Given the description of an element on the screen output the (x, y) to click on. 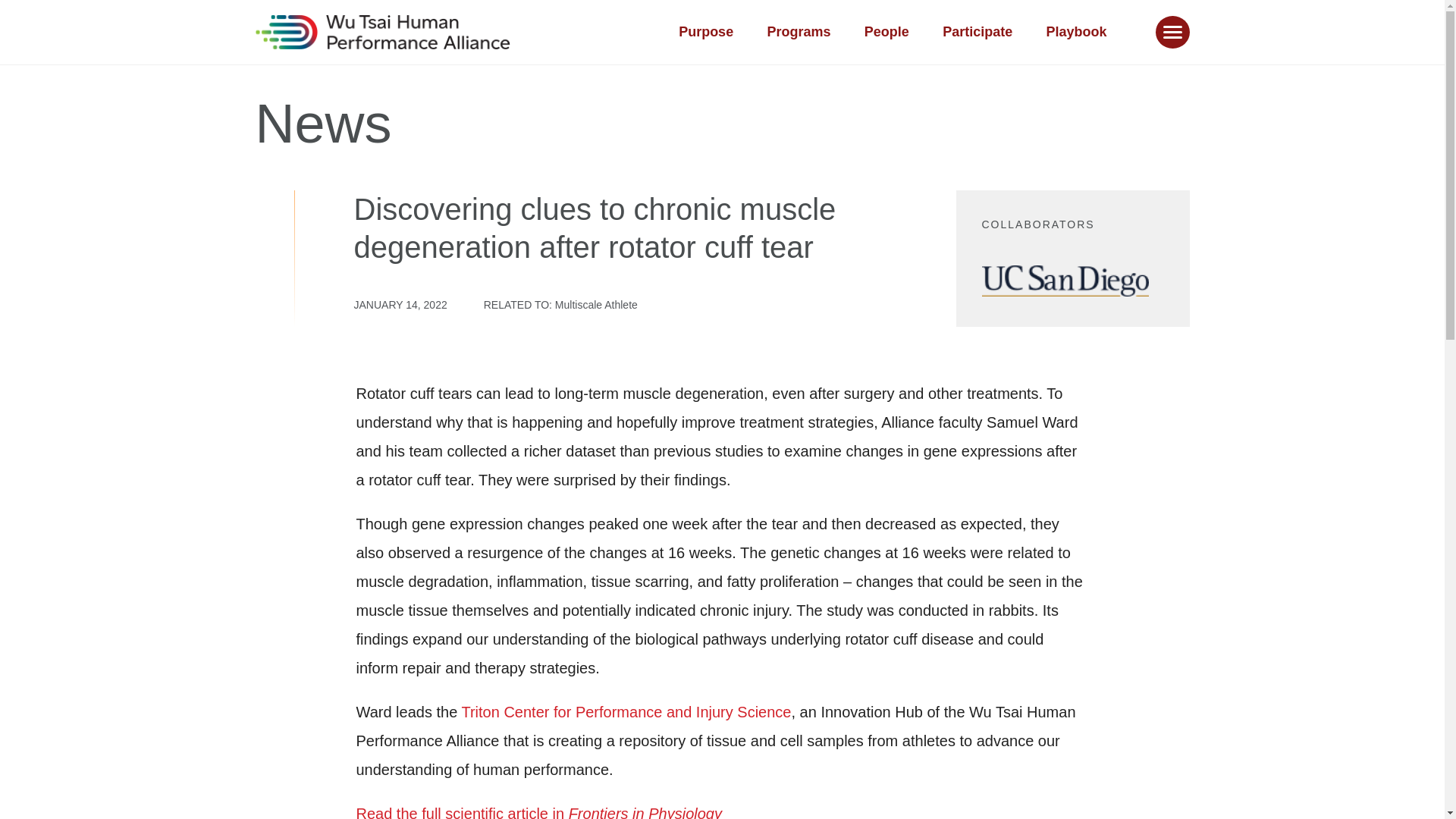
Purpose (705, 31)
People (886, 31)
Playbook (1075, 31)
Participate (976, 31)
Triton Center for Performance and Injury Science (625, 711)
Programs (798, 31)
Read the full scientific article in Frontiers in Physiology (539, 812)
